Given the description of an element on the screen output the (x, y) to click on. 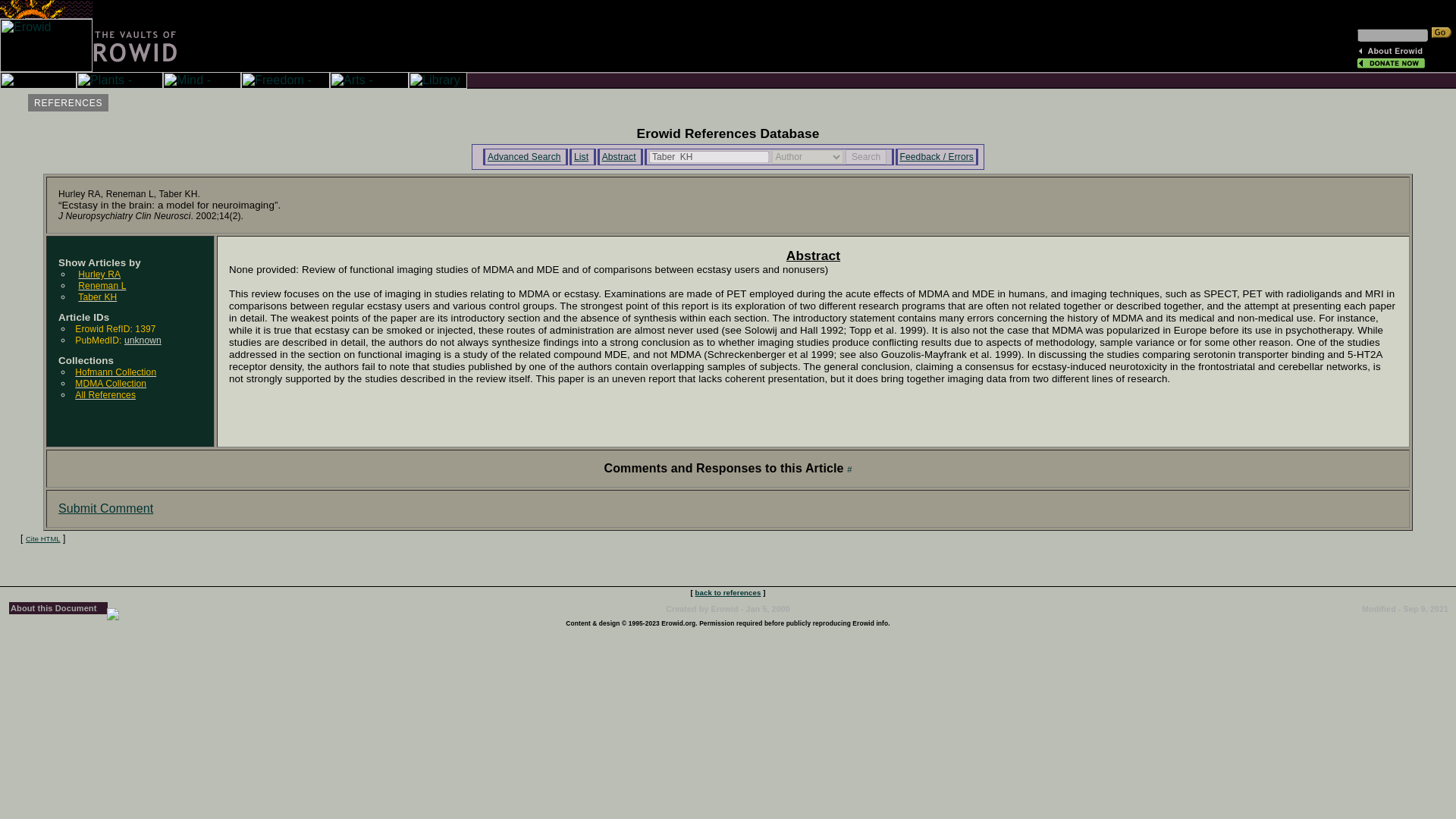
Search (865, 156)
Search (865, 156)
